Given the description of an element on the screen output the (x, y) to click on. 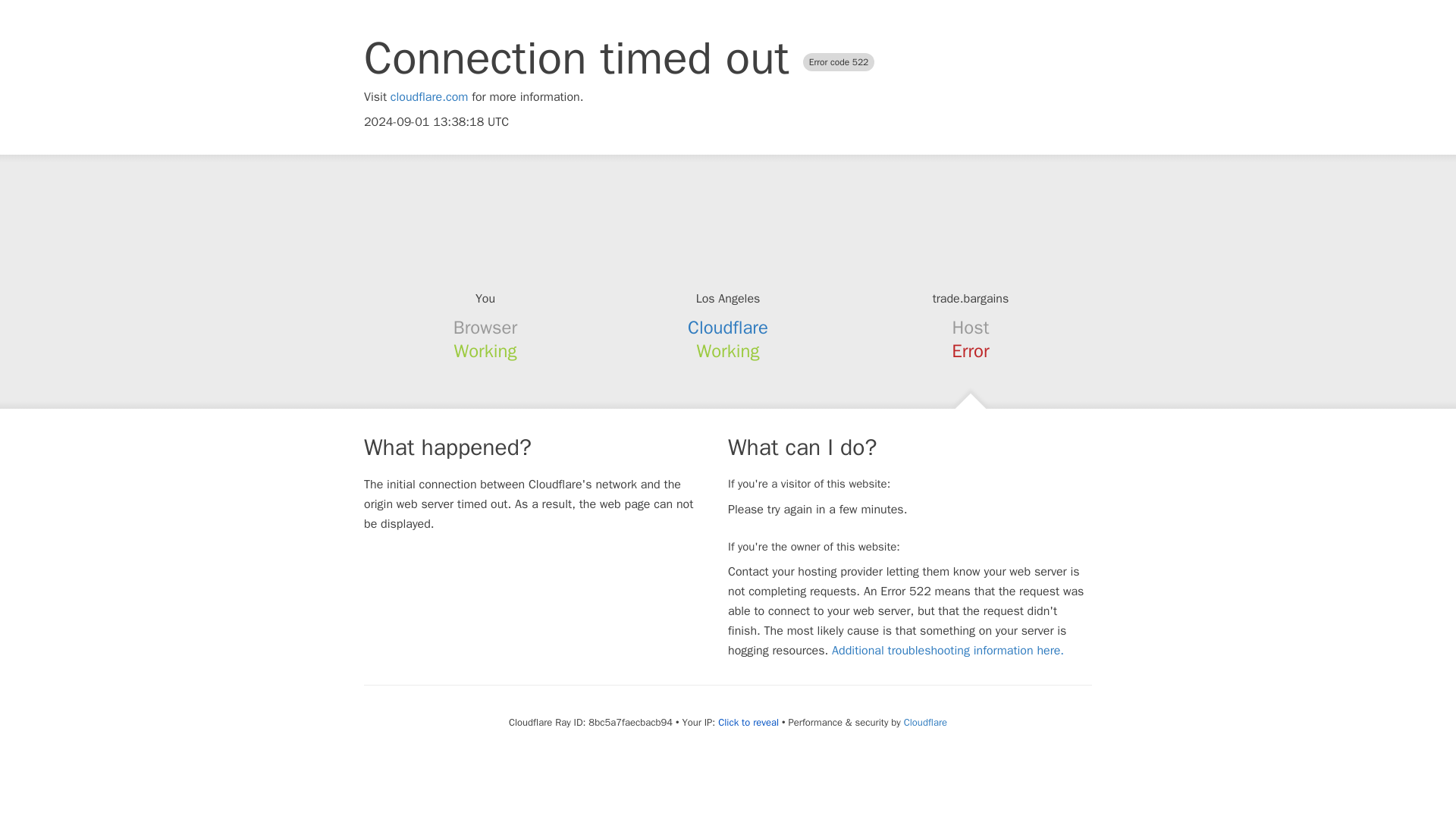
Additional troubleshooting information here. (947, 650)
Cloudflare (727, 327)
cloudflare.com (429, 96)
Click to reveal (747, 722)
Cloudflare (925, 721)
